Given the description of an element on the screen output the (x, y) to click on. 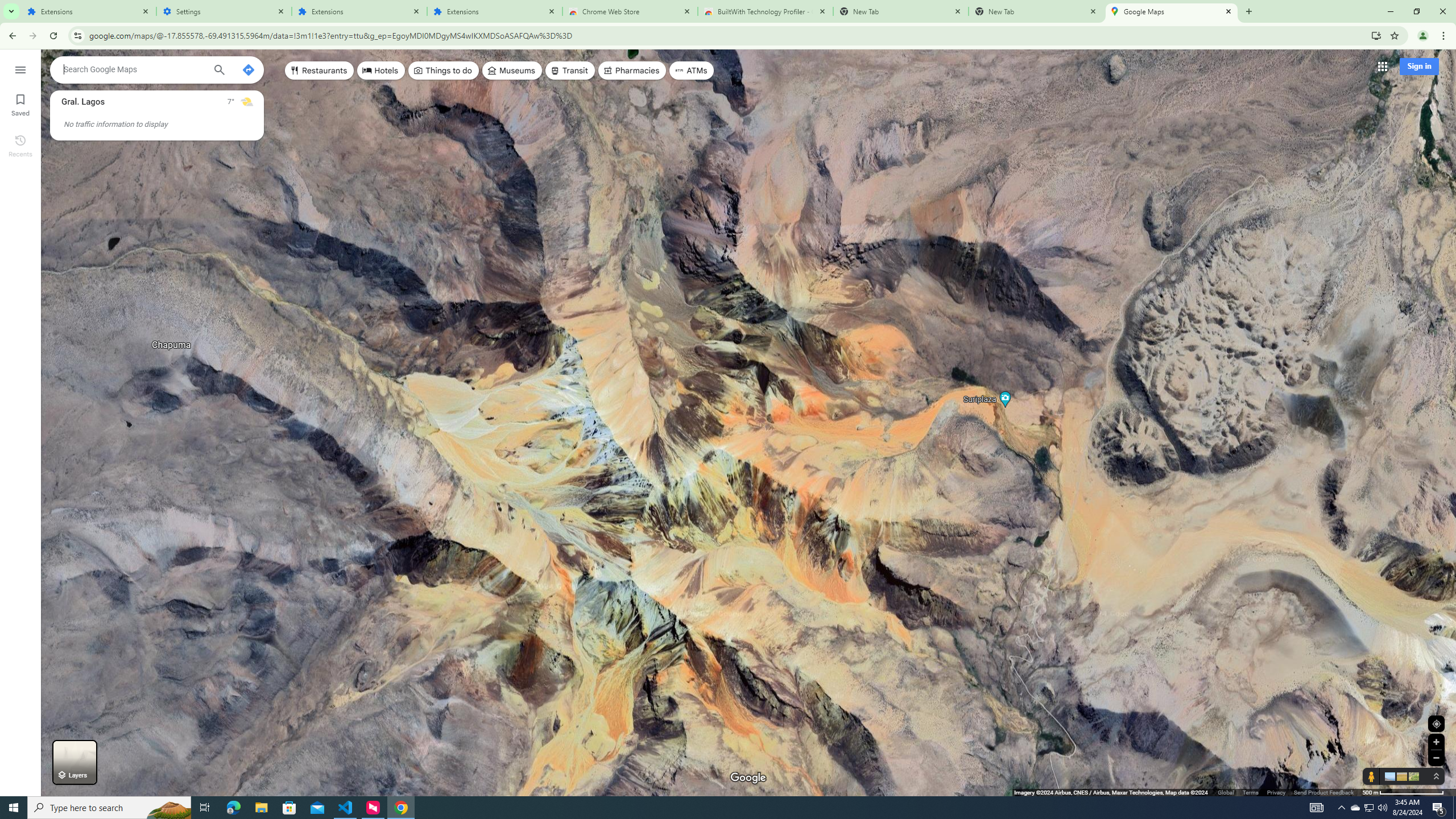
Extensions (494, 11)
Show Street View coverage (1371, 776)
Search Google Maps (133, 69)
Settings (224, 11)
BuiltWith Technology Profiler - Chrome Web Store (765, 11)
Saved (20, 104)
Extensions (88, 11)
